Given the description of an element on the screen output the (x, y) to click on. 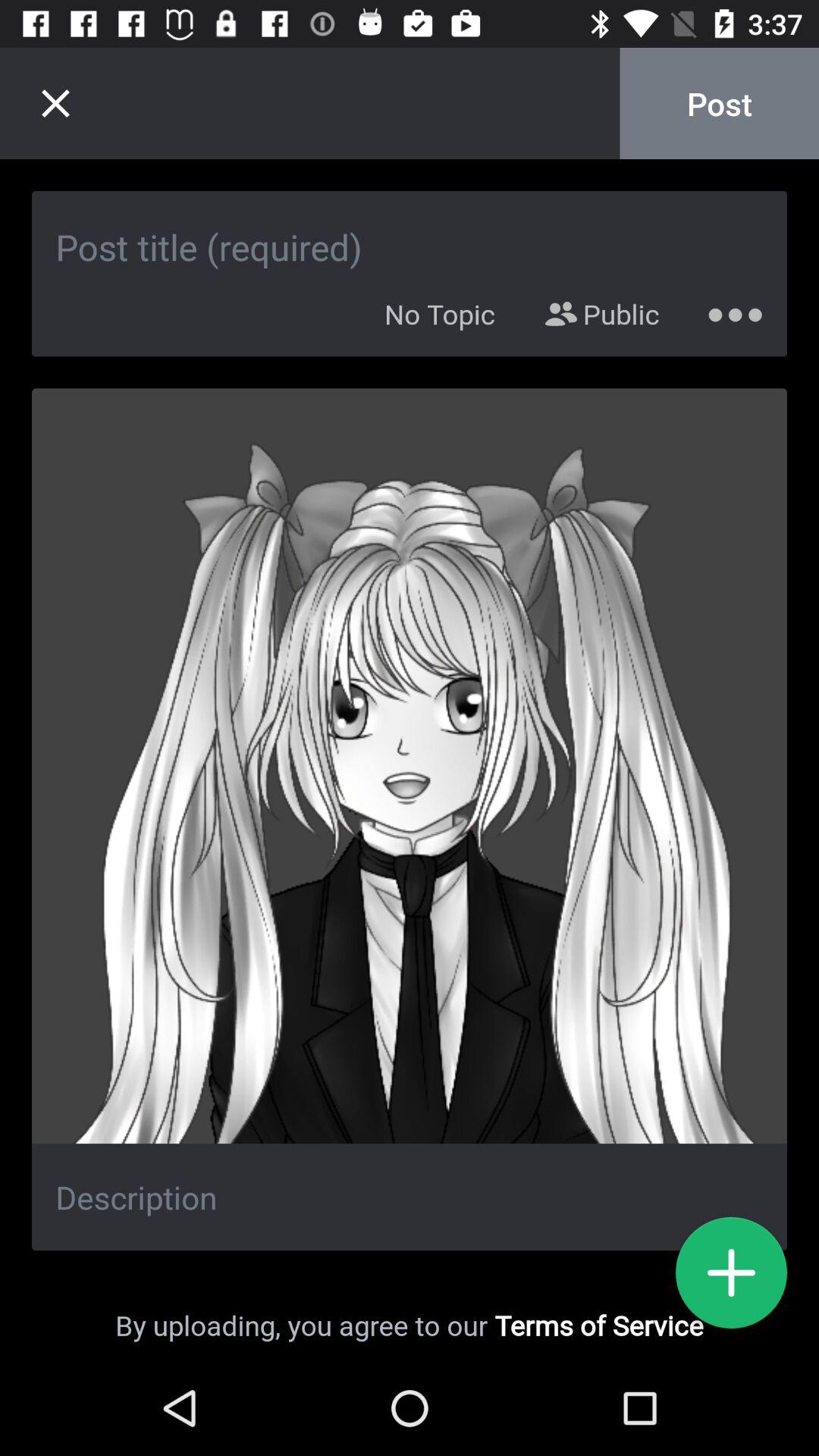
edit description (409, 1196)
